Given the description of an element on the screen output the (x, y) to click on. 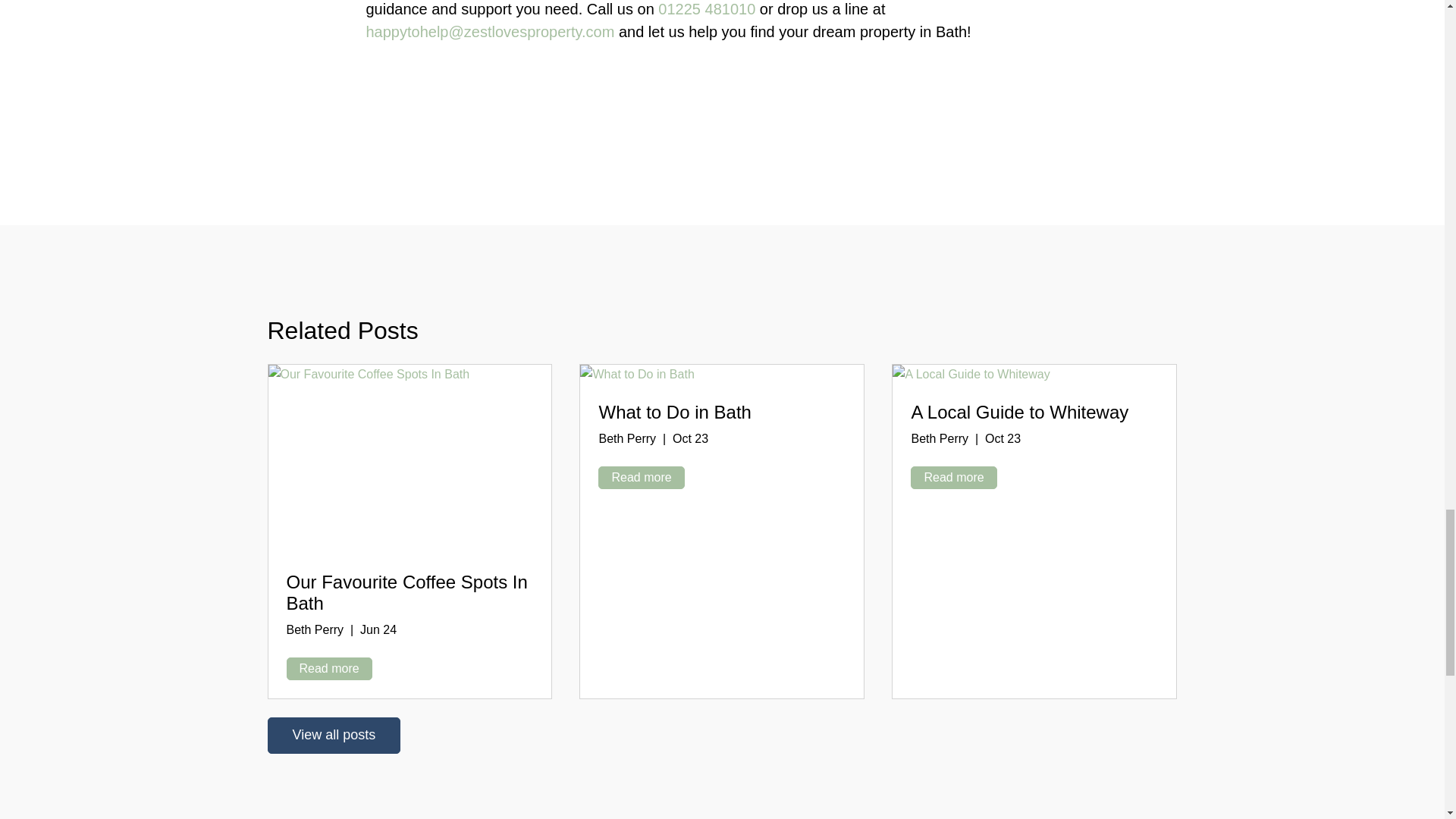
Read more (329, 668)
01225 481010 (706, 9)
Our Favourite Coffee Spots In Bath (406, 593)
